Given the description of an element on the screen output the (x, y) to click on. 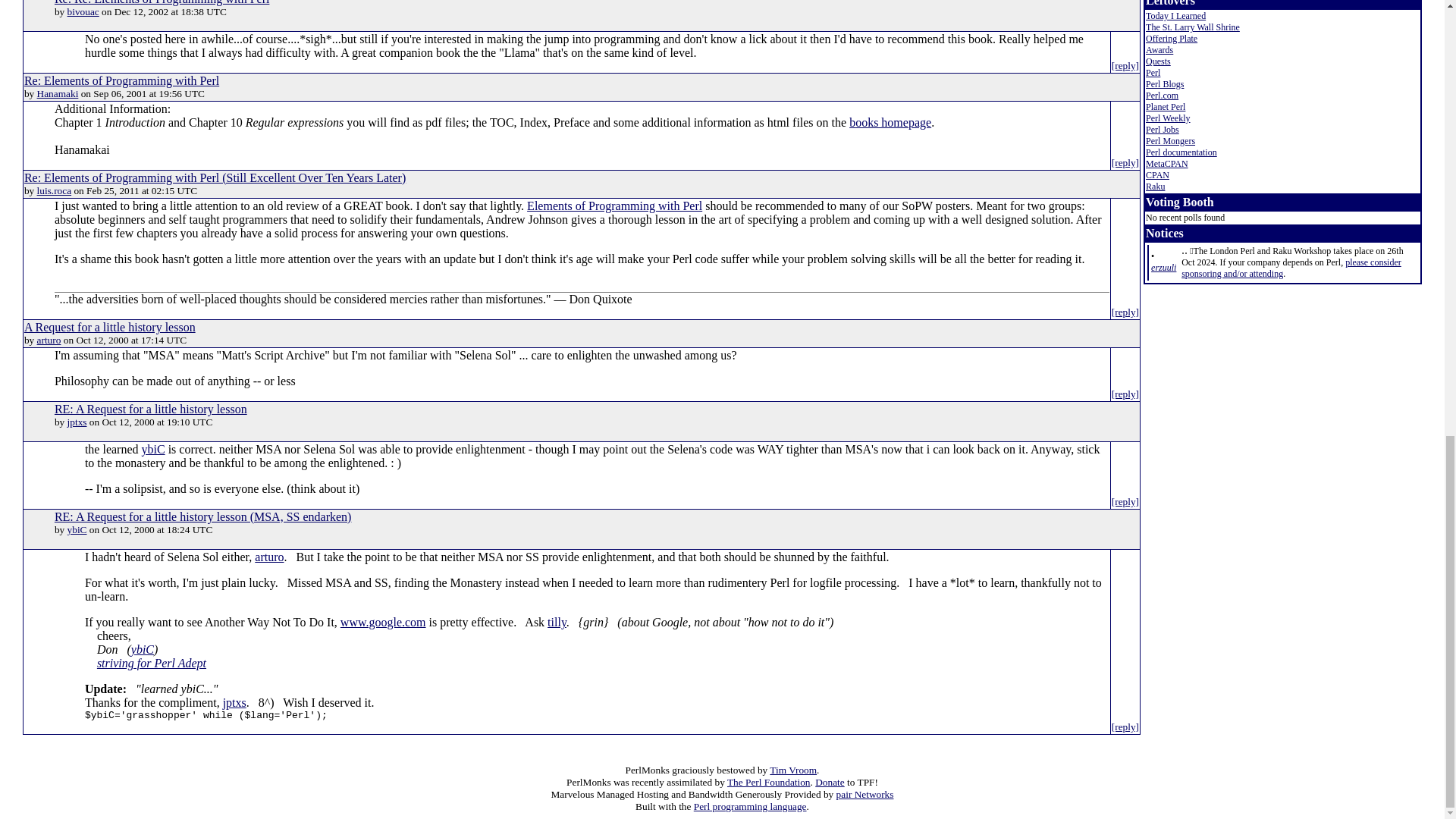
2024-05-30 14:23:36 (1163, 267)
